Given the description of an element on the screen output the (x, y) to click on. 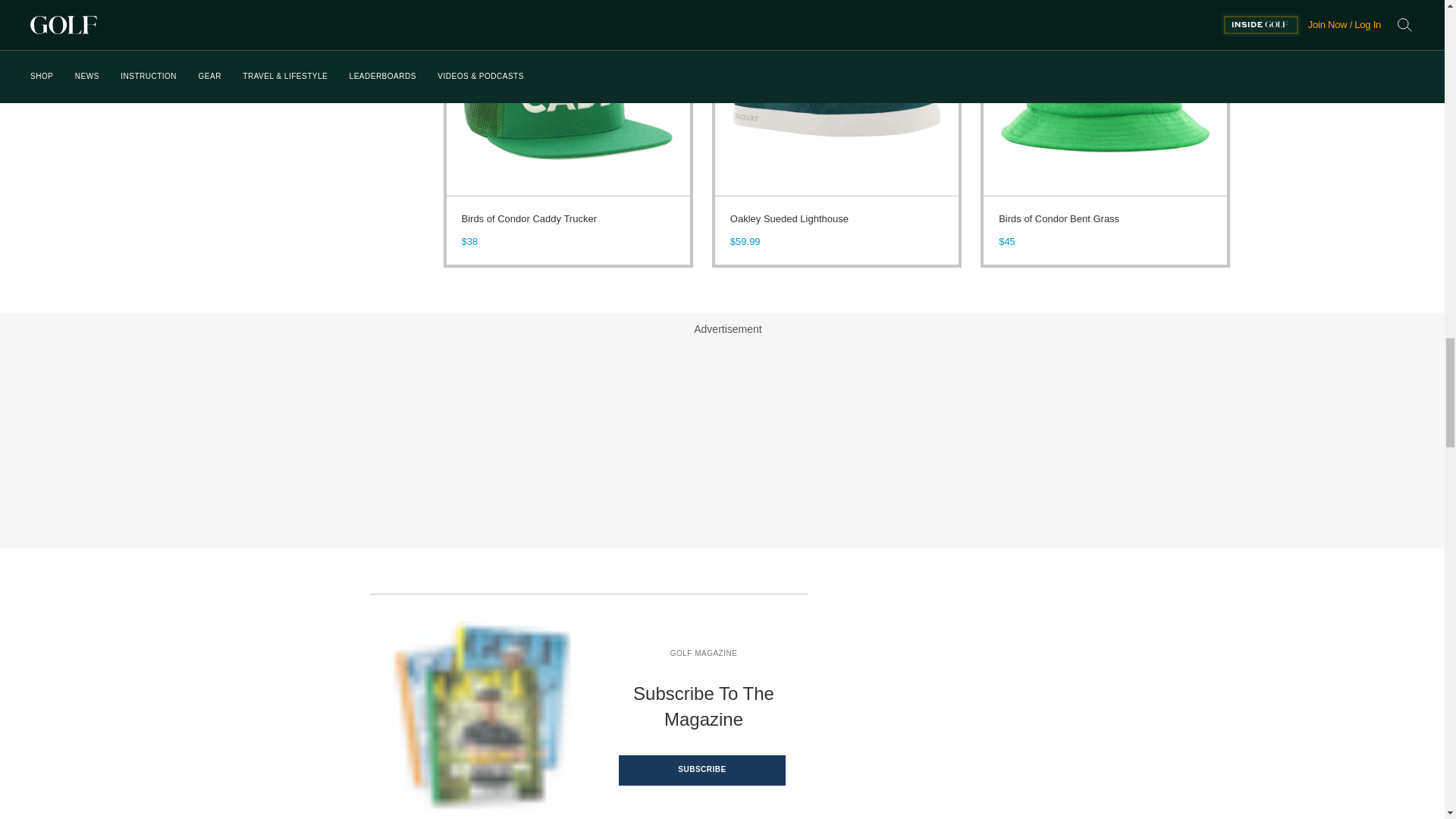
Explore GOLF's Pro Shop (297, 83)
